Given the description of an element on the screen output the (x, y) to click on. 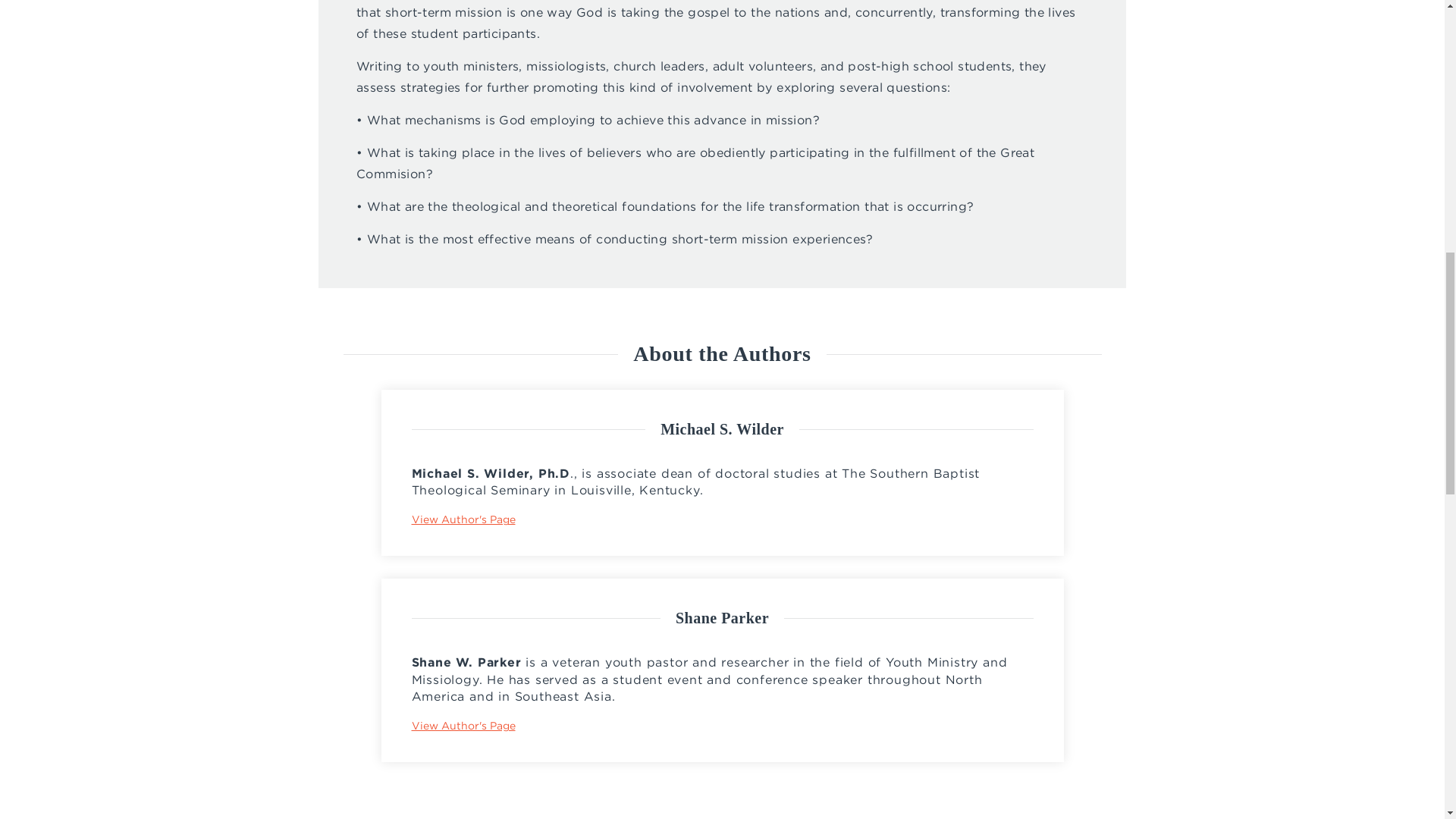
View Author's Page (462, 519)
View Author's Page (462, 725)
